Given the description of an element on the screen output the (x, y) to click on. 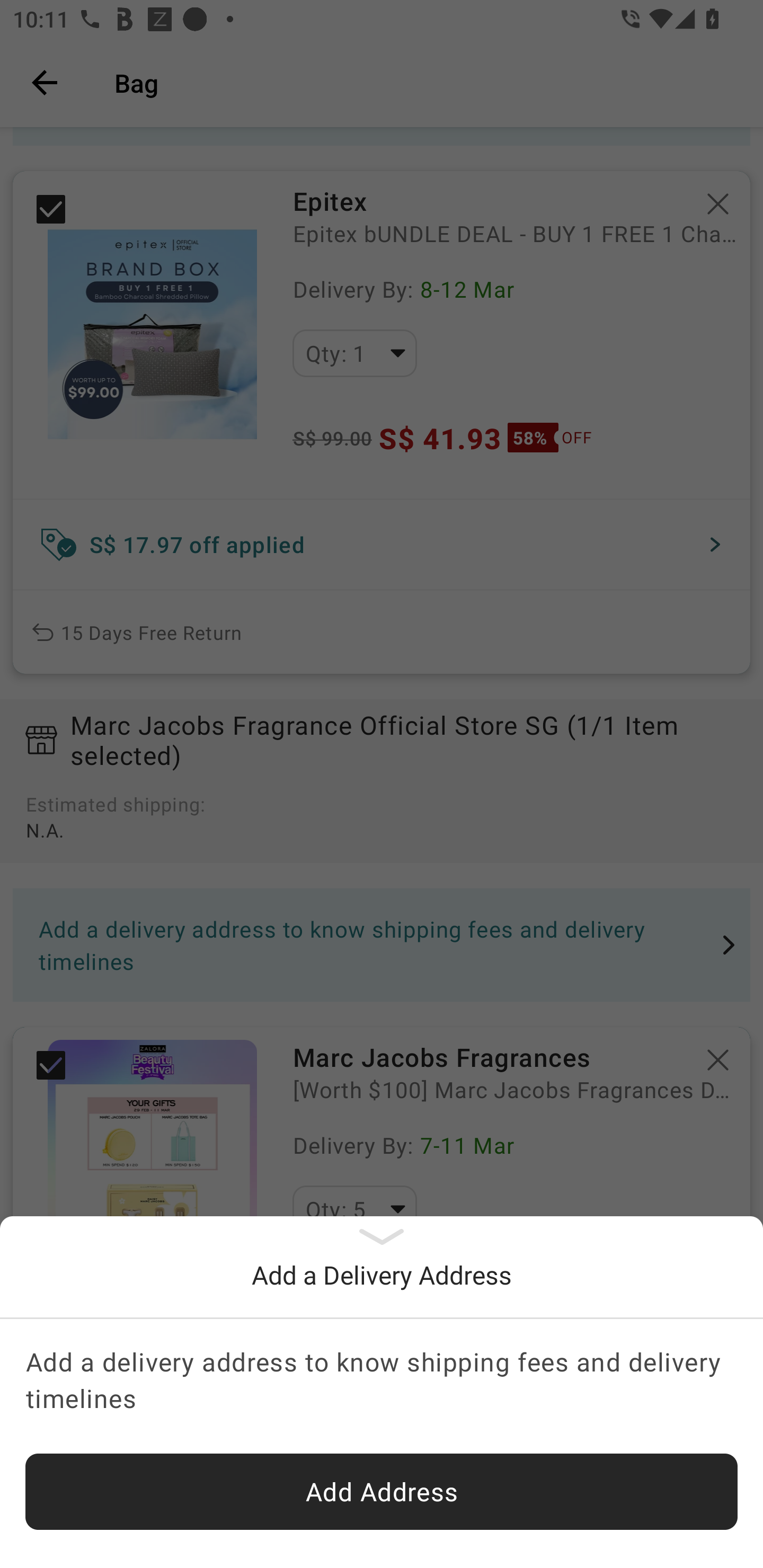
Add Address (381, 1491)
